Given the description of an element on the screen output the (x, y) to click on. 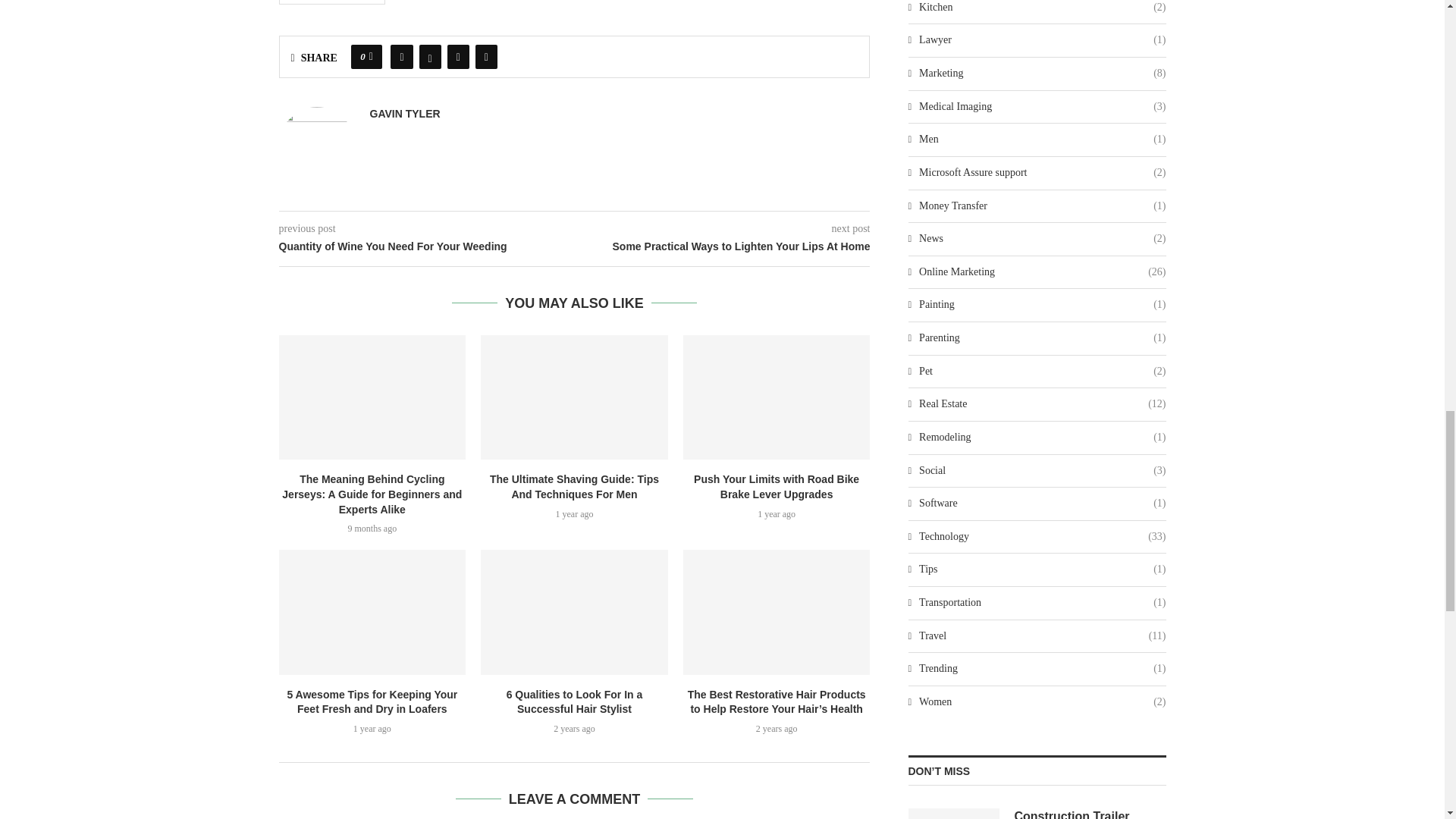
Author Gavin Tyler (405, 114)
6 Qualities to Look For In a Successful Hair Stylist (574, 611)
The Ultimate Shaving Guide: Tips And Techniques For Men (574, 396)
Push Your Limits with Road Bike Brake Lever Upgrades (776, 396)
